Given the description of an element on the screen output the (x, y) to click on. 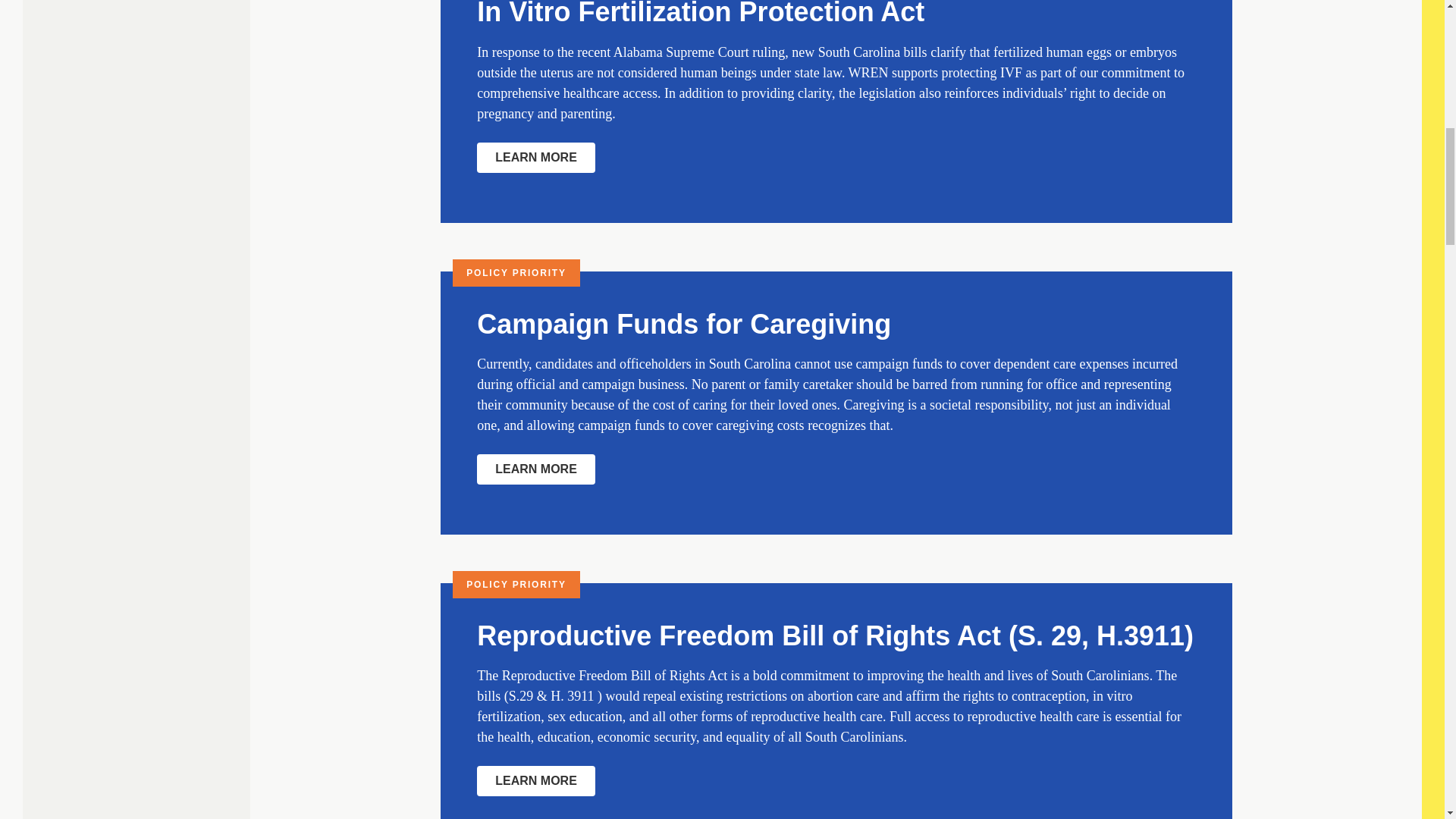
LEARN MORE (536, 157)
